Given the description of an element on the screen output the (x, y) to click on. 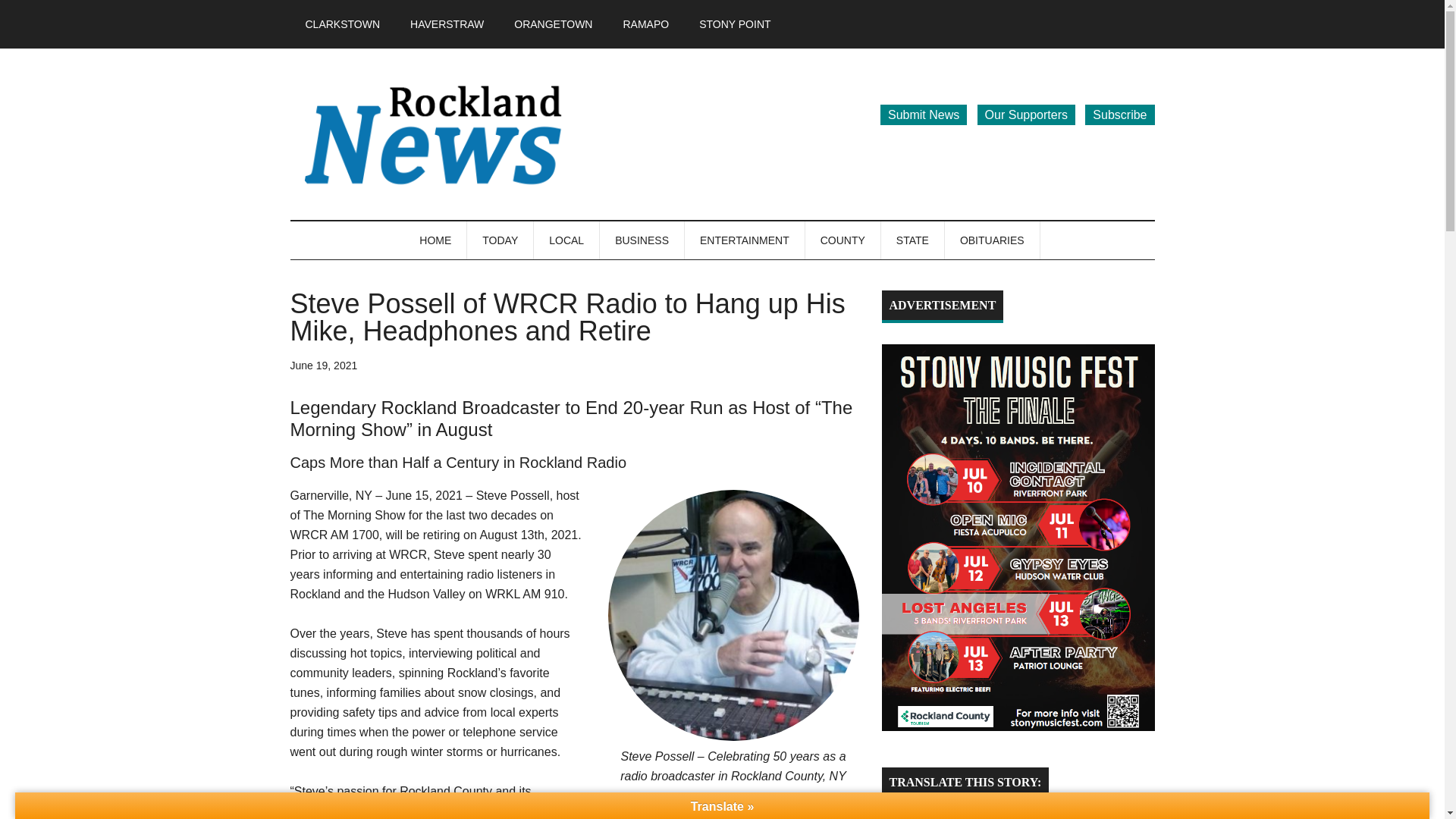
STATE (912, 240)
Haitian (903, 808)
HOME (435, 240)
STONY POINT (735, 24)
Our Supporters (1025, 114)
Submit News (923, 114)
TODAY (500, 240)
RAMAPO (645, 24)
Spanish (933, 808)
ORANGETOWN (553, 24)
BUSINESS (641, 240)
LOCAL (566, 240)
Yiddish (948, 808)
OBITUARIES (992, 240)
CLARKSTOWN (341, 24)
